Given the description of an element on the screen output the (x, y) to click on. 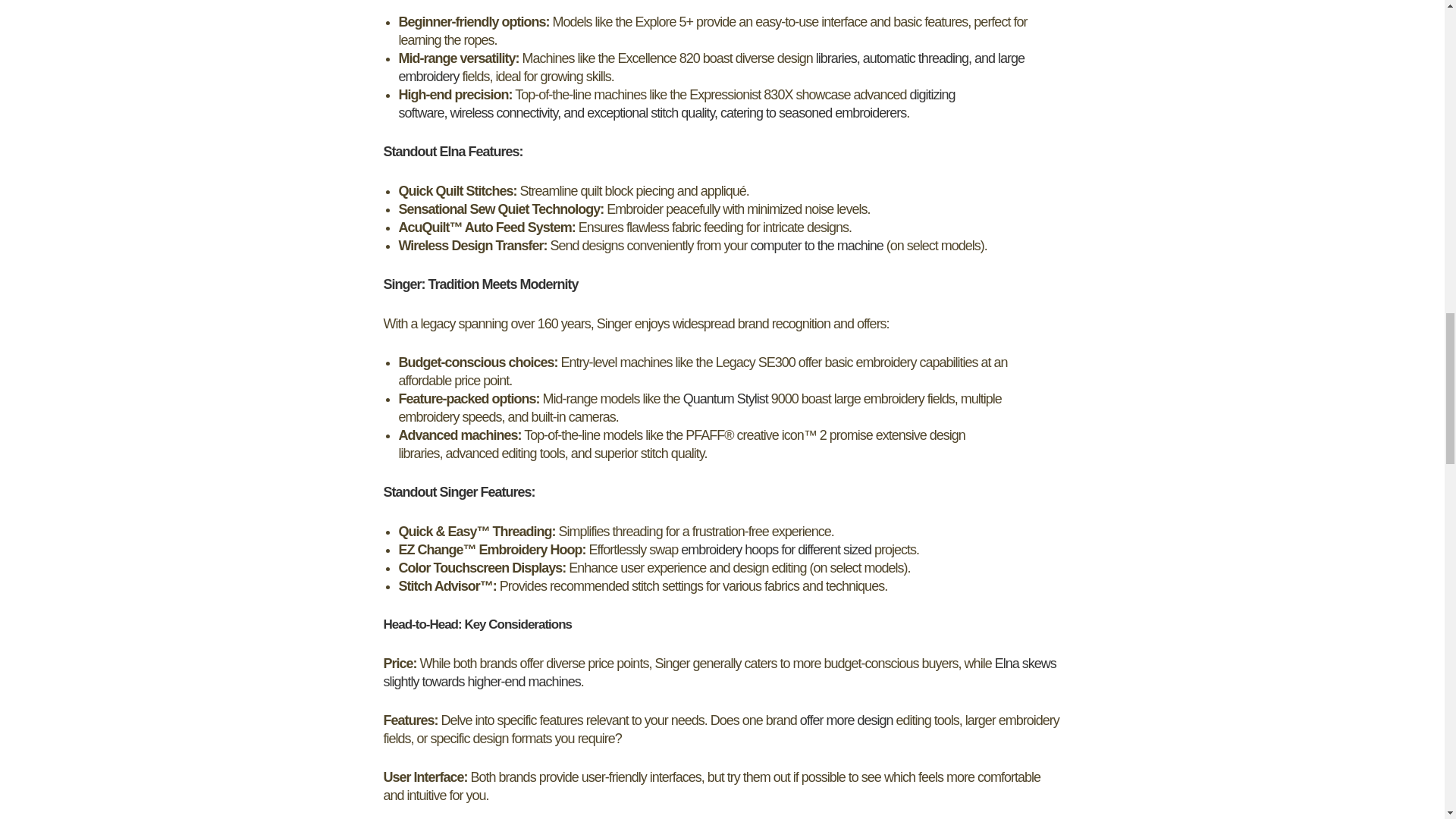
libraries, automatic threading, and large embroidery (711, 67)
Elna skews slightly towards higher-end machines (720, 672)
computer to the machine (817, 245)
embroidery hoops for different sized (775, 549)
Quantum Stylist (725, 398)
offer more design (846, 720)
